Given the description of an element on the screen output the (x, y) to click on. 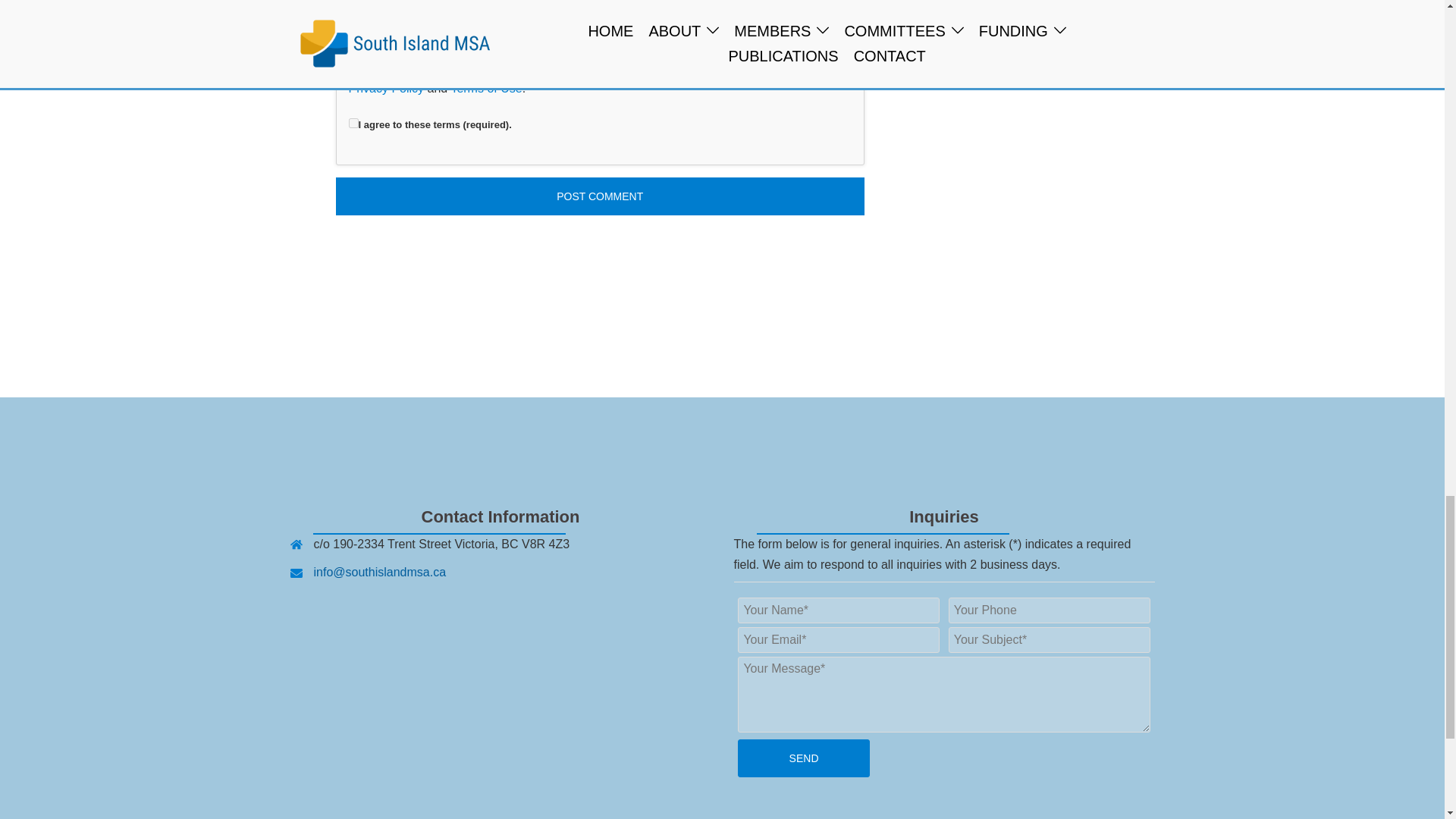
on (353, 122)
Send (803, 758)
Post Comment (599, 196)
